Given the description of an element on the screen output the (x, y) to click on. 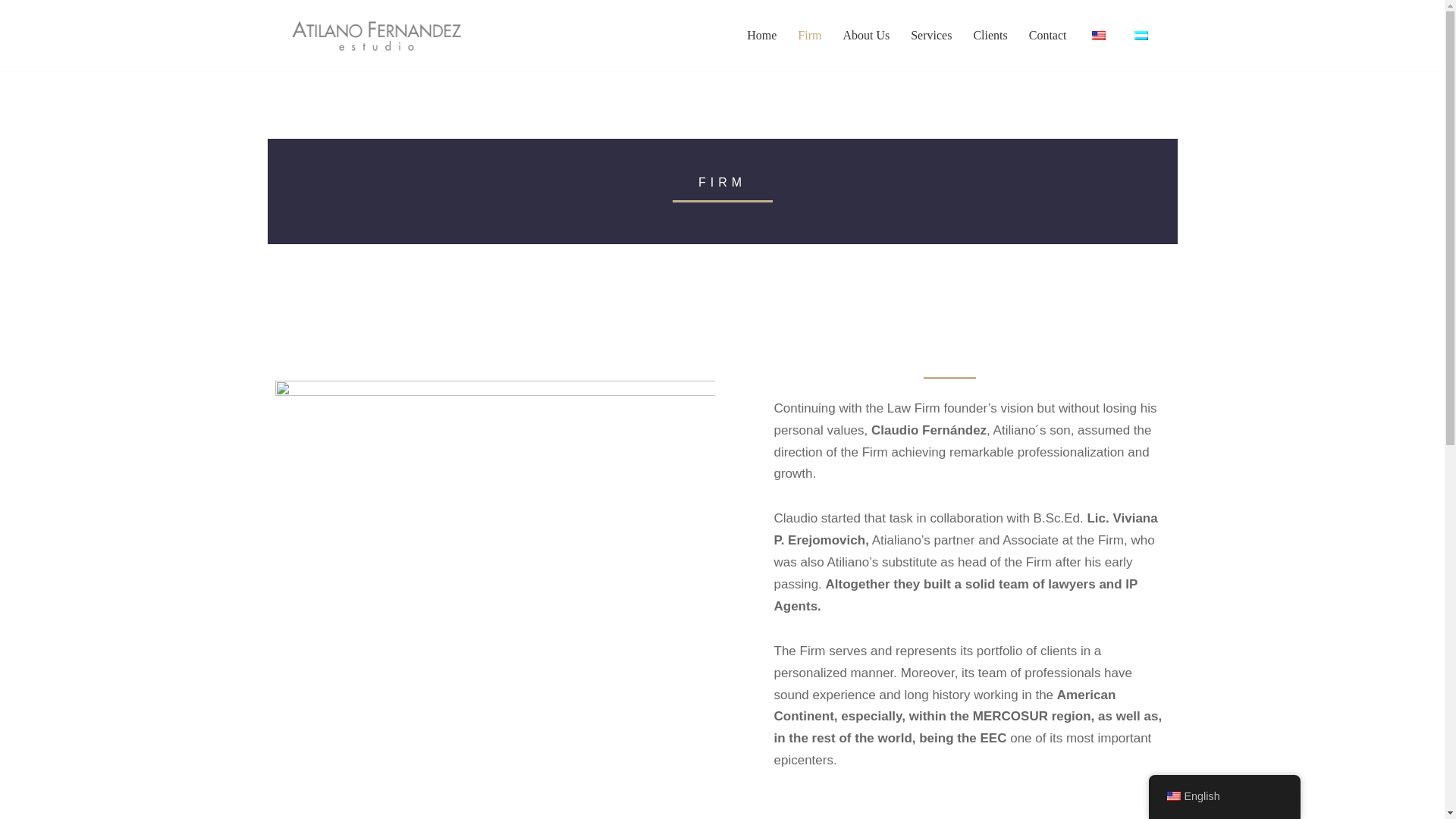
Clients (989, 35)
English (1224, 796)
Skip to content (11, 31)
Services (931, 35)
Home (761, 35)
English (1172, 795)
ESP (1141, 35)
Firm (809, 35)
Contact (1048, 35)
About Us (866, 35)
ENG (1098, 35)
